Given the description of an element on the screen output the (x, y) to click on. 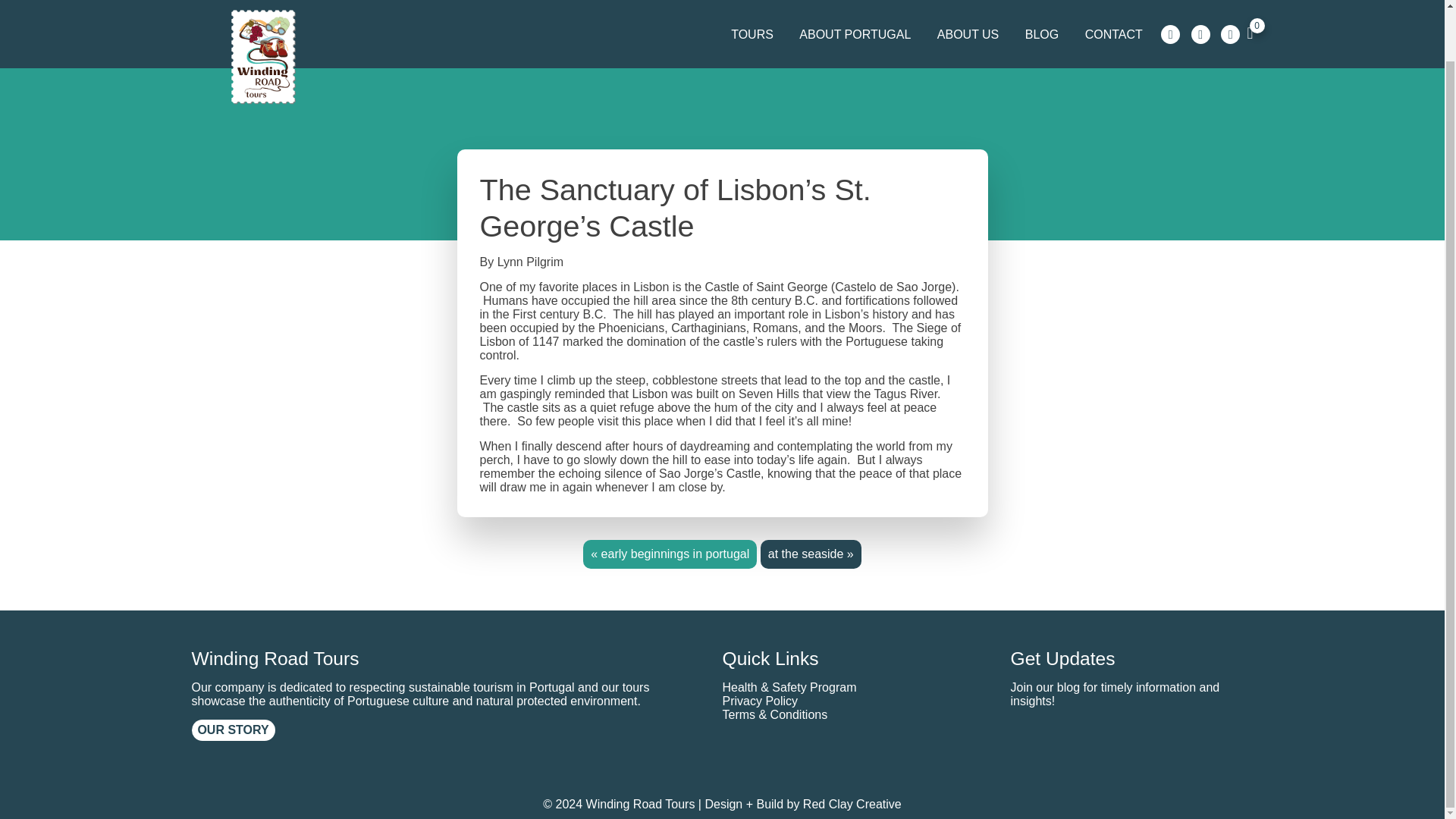
at the seaside (806, 553)
Lynn Pilgrim (530, 261)
early beginnings in portugal (675, 553)
Red Clay Creative (852, 803)
Privacy Policy (759, 700)
OUR STORY (232, 730)
